Given the description of an element on the screen output the (x, y) to click on. 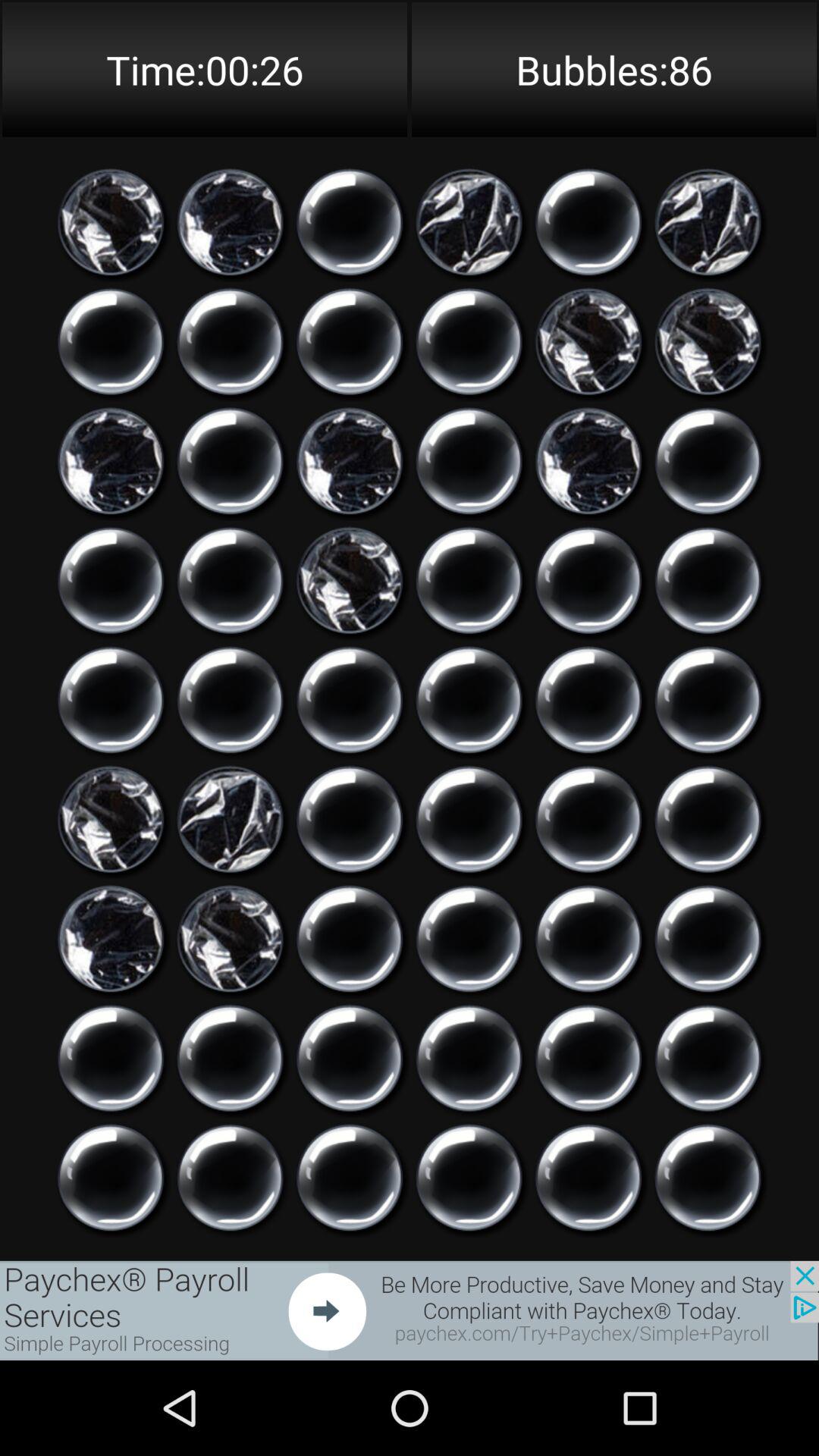
break bubble (349, 1058)
